Given the description of an element on the screen output the (x, y) to click on. 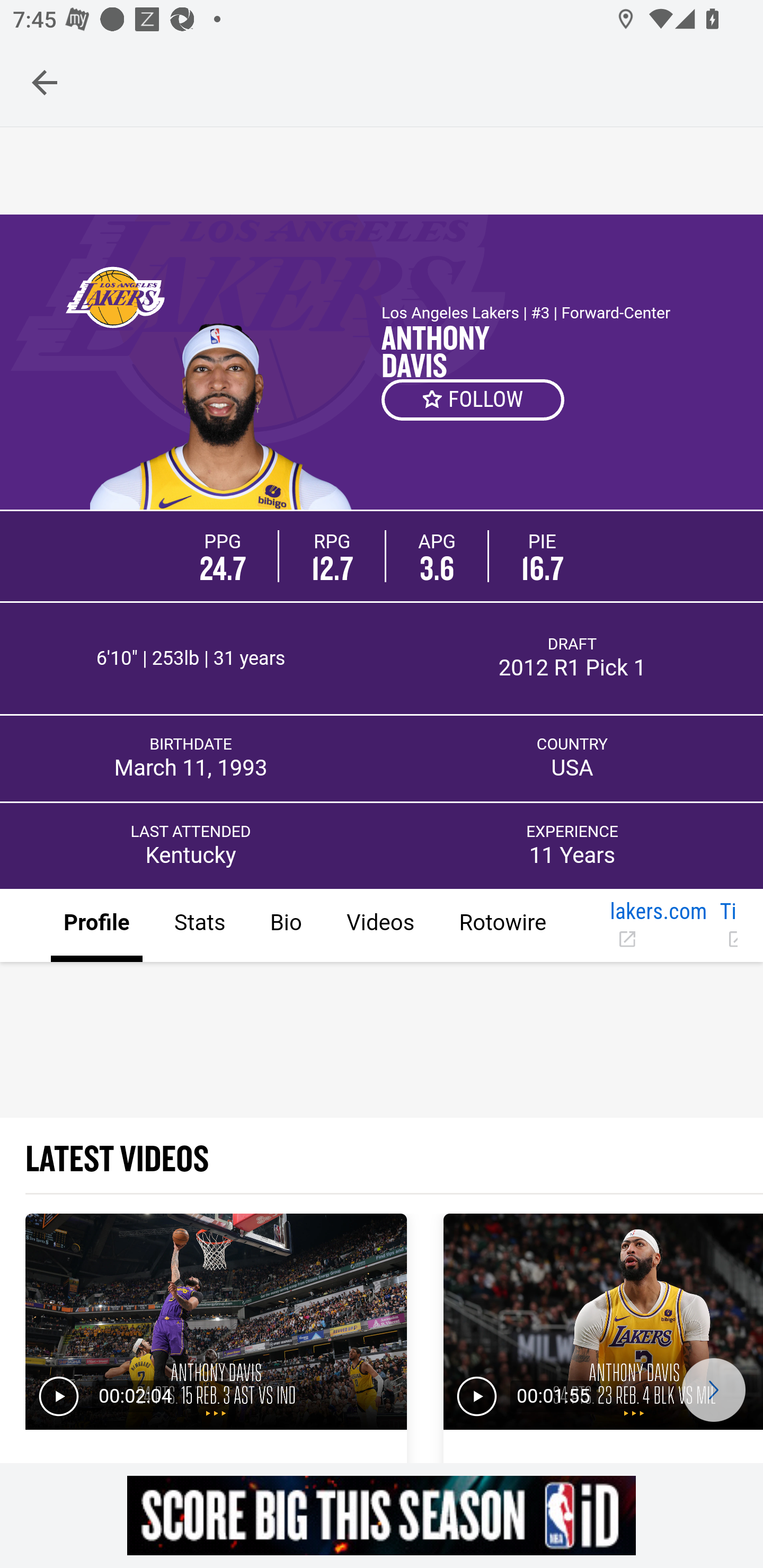
Navigate up (44, 82)
Los Angeles Lakers Logo (114, 297)
FOLLOW (473, 399)
Profile (97, 926)
Stats (199, 926)
Bio (284, 926)
Videos (379, 926)
Rotowire (501, 926)
lakers.com (657, 926)
Carousel Button (713, 1389)
g5nqqygr7owph (381, 1515)
